Given the description of an element on the screen output the (x, y) to click on. 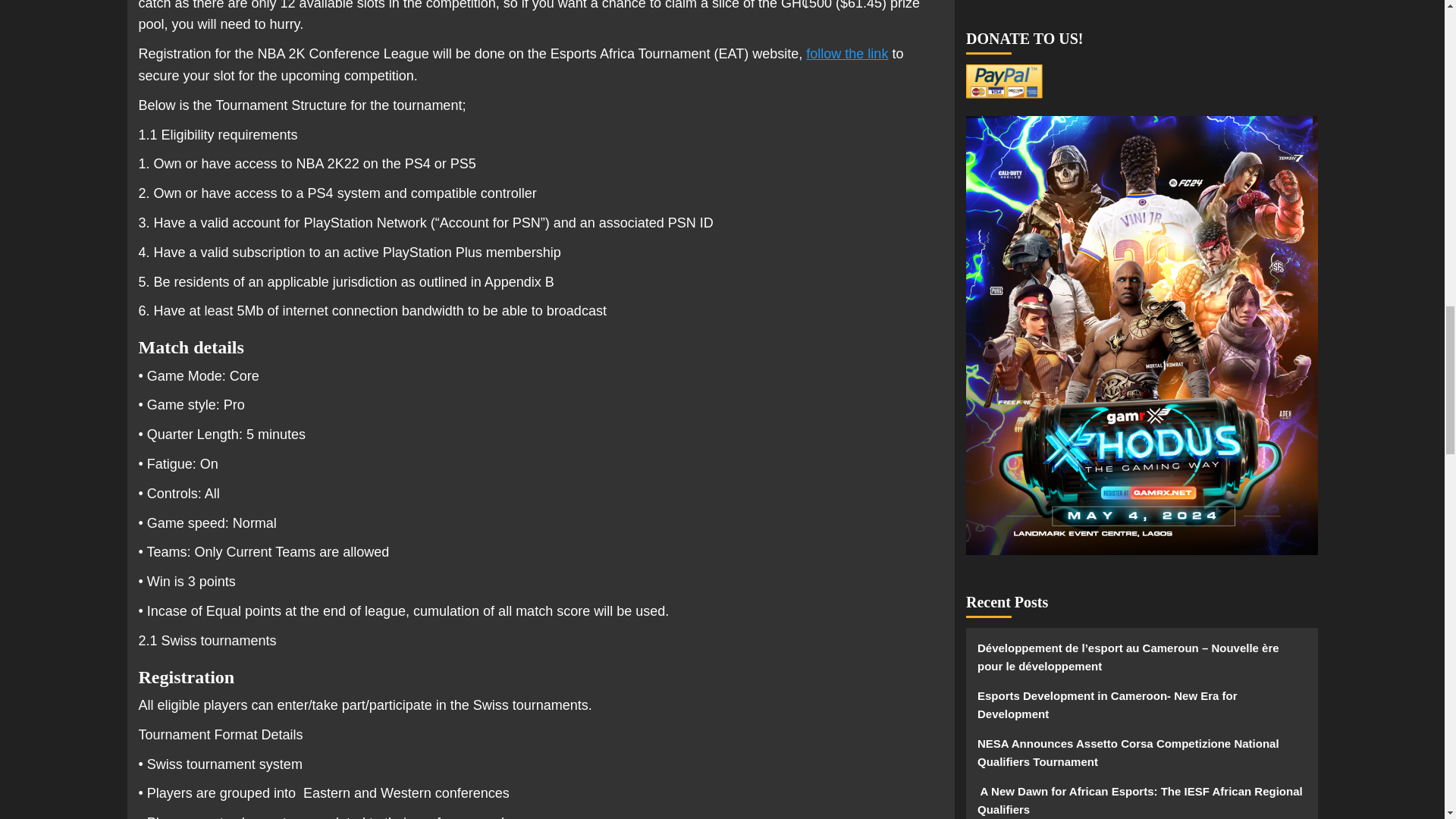
follow the link (847, 53)
